Given the description of an element on the screen output the (x, y) to click on. 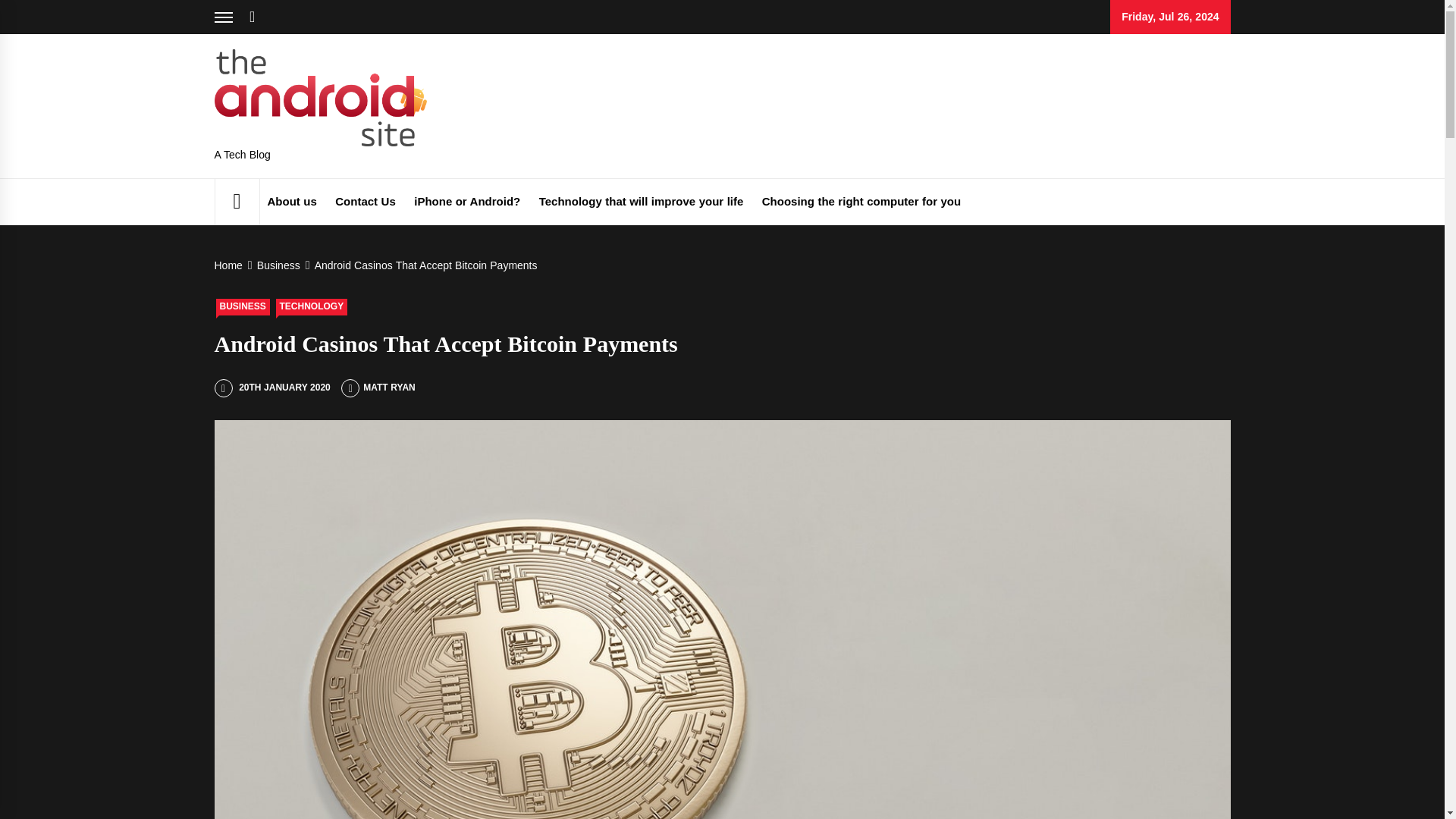
TECHNOLOGY (311, 306)
BUSINESS (242, 306)
About us (291, 201)
20TH JANUARY 2020 (272, 387)
Choosing the right computer for you (861, 201)
Technology that will improve your life (641, 201)
Business (276, 265)
iPhone or Android? (466, 201)
Android Casinos That Accept Bitcoin Payments (424, 265)
The Android Site (487, 105)
MATT RYAN (377, 387)
Contact Us (365, 201)
Home (230, 265)
